Given the description of an element on the screen output the (x, y) to click on. 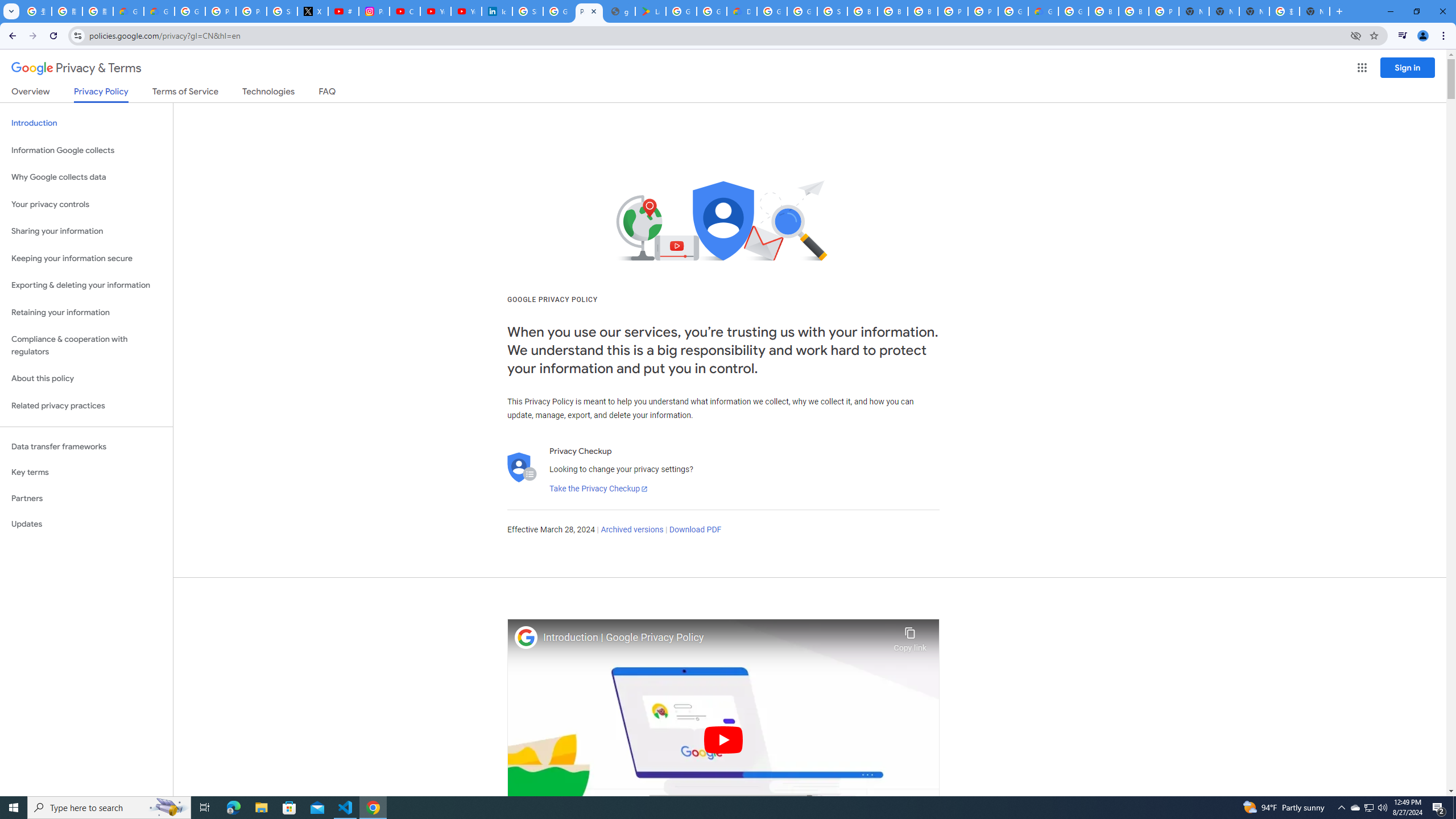
Archived versions (631, 529)
Google Cloud Privacy Notice (127, 11)
#nbabasketballhighlights - YouTube (343, 11)
Play (723, 739)
Take the Privacy Checkup (597, 488)
X (312, 11)
Sharing your information (86, 230)
Privacy Help Center - Policies Help (251, 11)
